Given the description of an element on the screen output the (x, y) to click on. 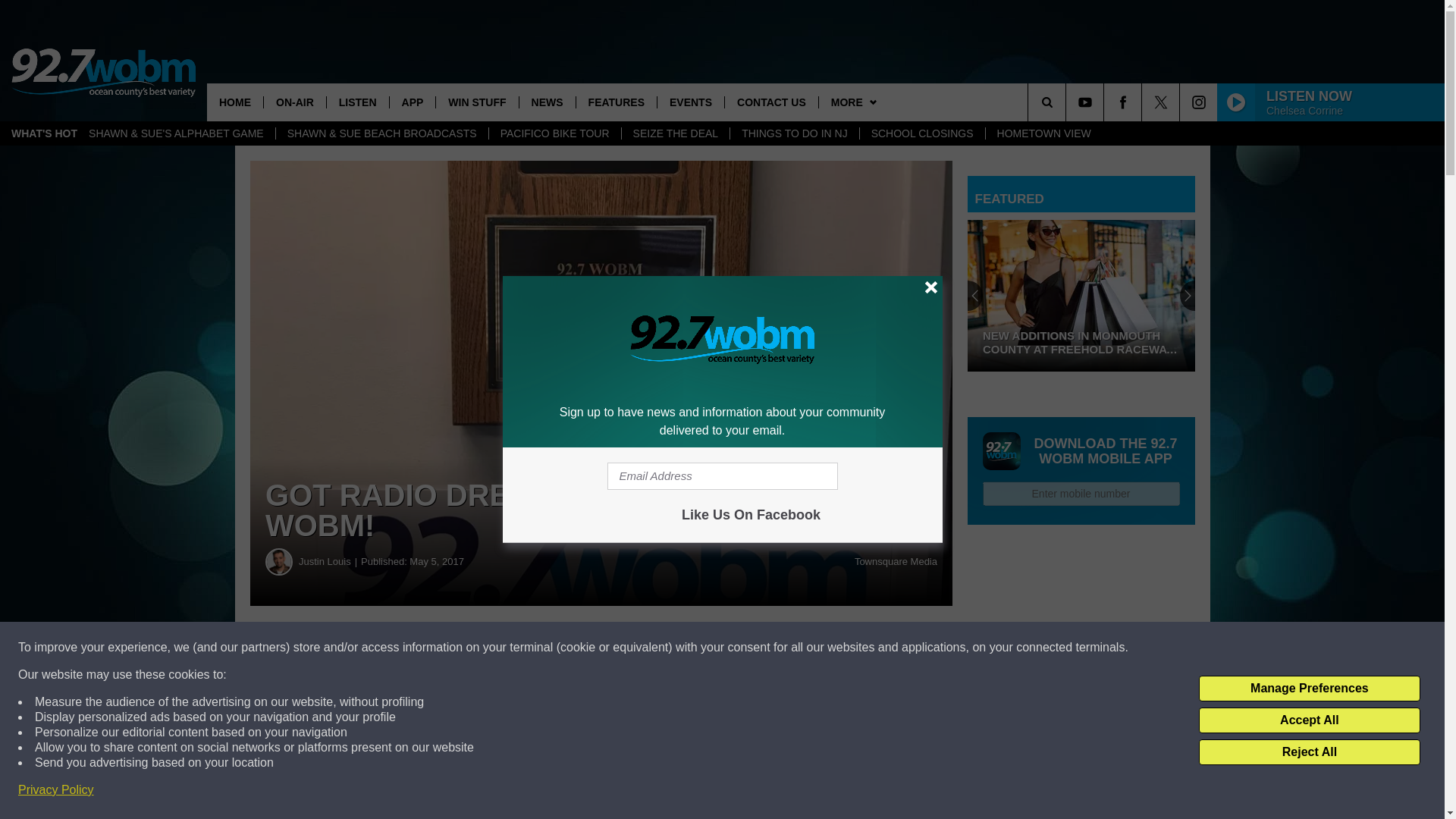
Privacy Policy (55, 789)
LISTEN (357, 102)
THINGS TO DO IN NJ (794, 133)
Manage Preferences (1309, 688)
Reject All (1309, 751)
ON-AIR (294, 102)
SEARCH (1068, 102)
Share on Twitter (741, 647)
HOMETOWN VIEW (1043, 133)
APP (411, 102)
Share on Facebook (460, 647)
Email Address (722, 475)
SEARCH (1068, 102)
SEIZE THE DEAL (675, 133)
SCHOOL CLOSINGS (922, 133)
